Given the description of an element on the screen output the (x, y) to click on. 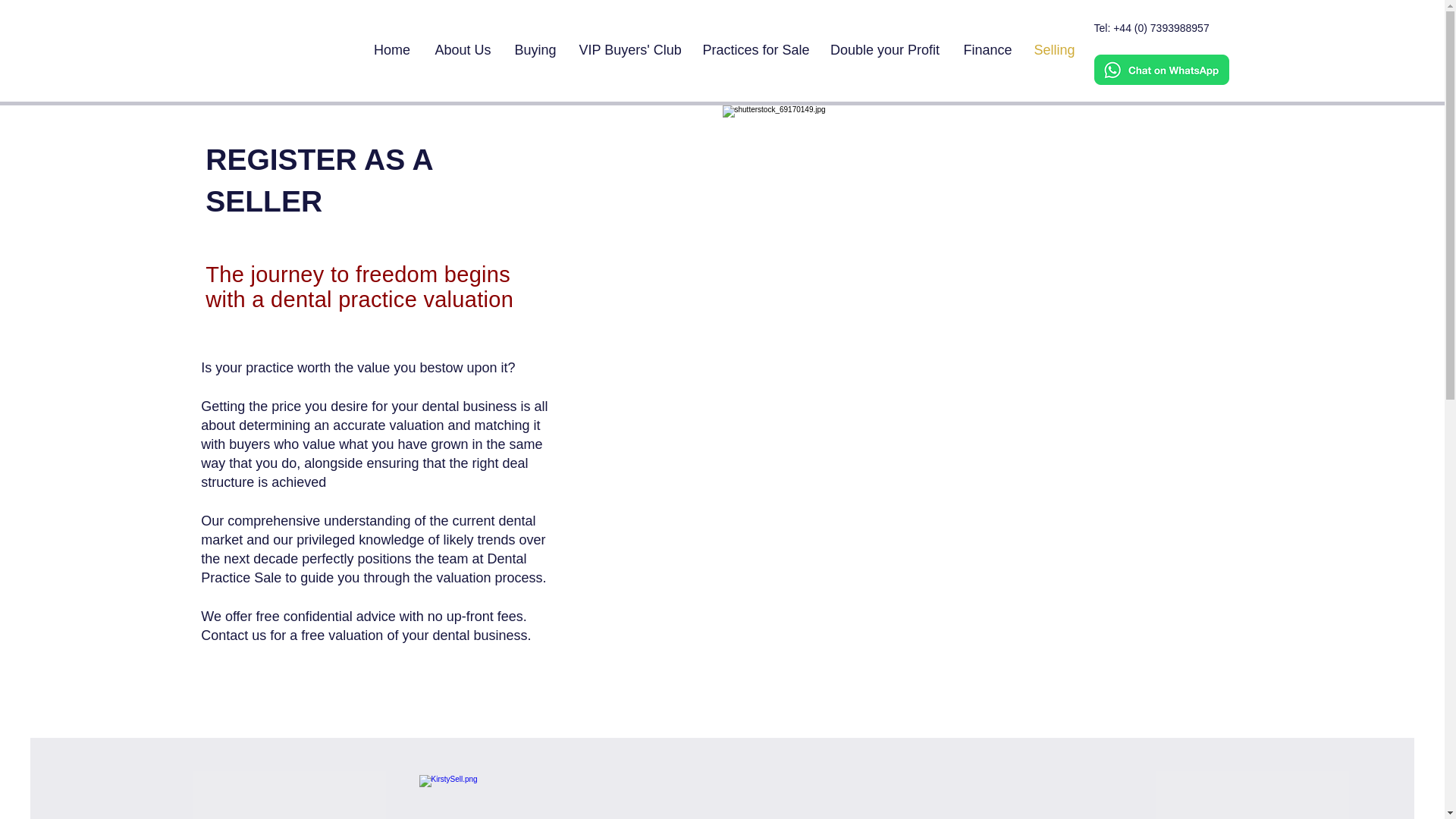
Selling (1054, 50)
VIP Buyers' Club (628, 50)
Practices for Sale (754, 50)
Double your Profit (884, 50)
About Us (463, 50)
Home (391, 50)
Finance (987, 50)
Buying (535, 50)
